Given the description of an element on the screen output the (x, y) to click on. 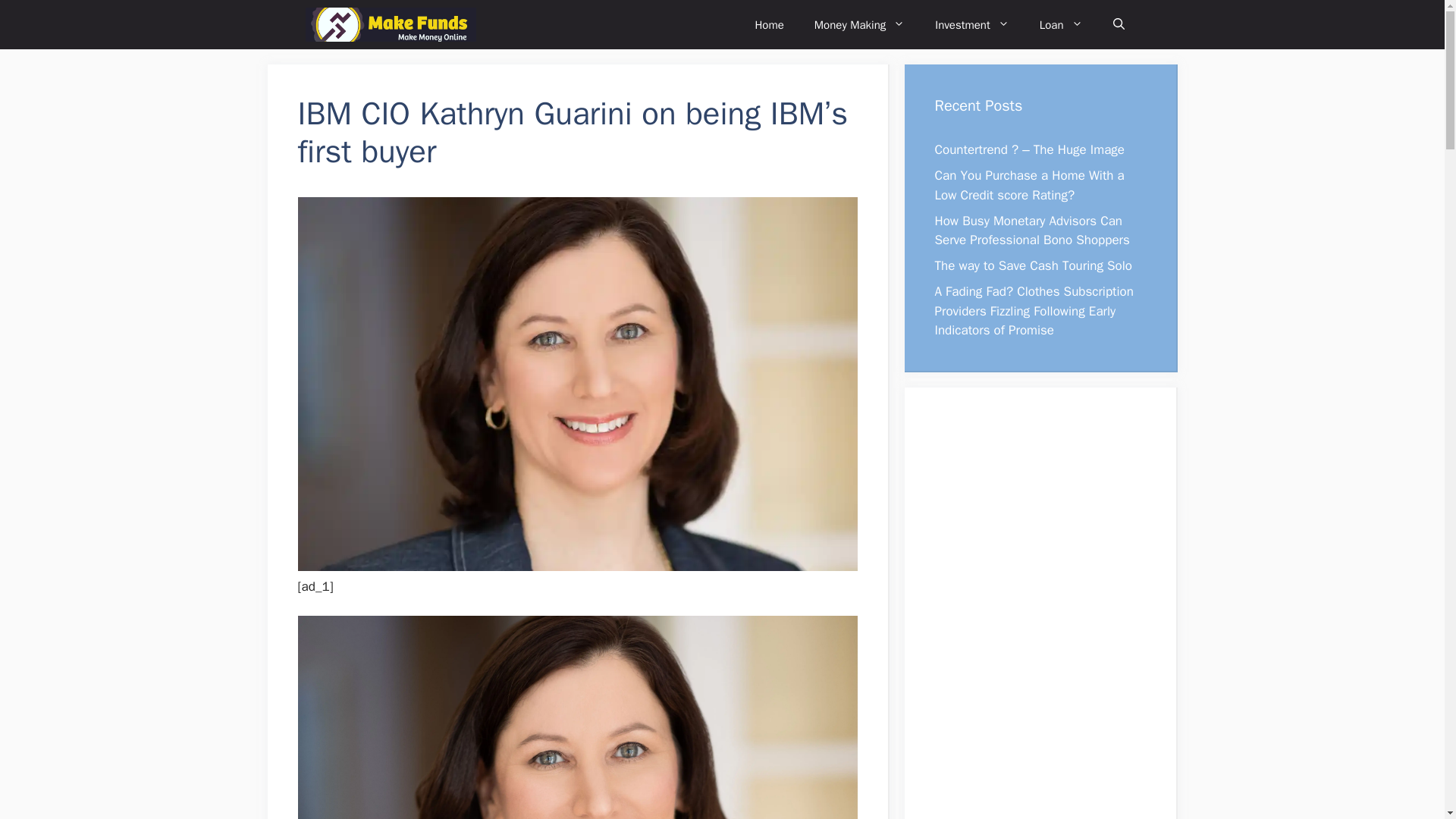
Home (768, 23)
Investment (972, 23)
The way to Save Cash Touring Solo (1032, 265)
Make Funds Internet (390, 24)
Loan (1061, 23)
Money Making (859, 23)
Can You Purchase a Home With a Low Credit score Rating? (1029, 185)
